Given the description of an element on the screen output the (x, y) to click on. 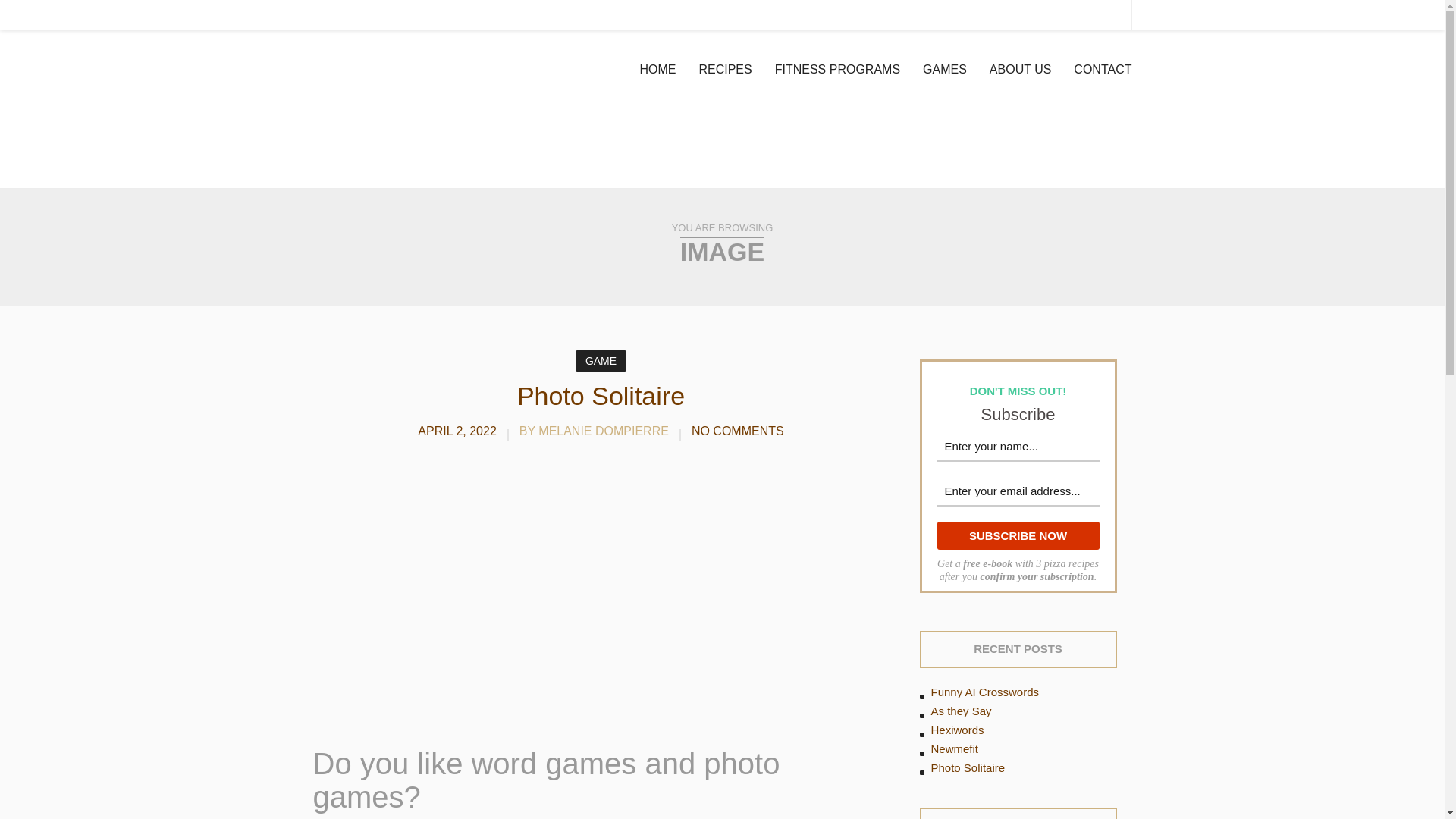
Subscribe Now (1018, 535)
Permanent Link to Photo Solitaire (600, 395)
HOME (657, 69)
